Given the description of an element on the screen output the (x, y) to click on. 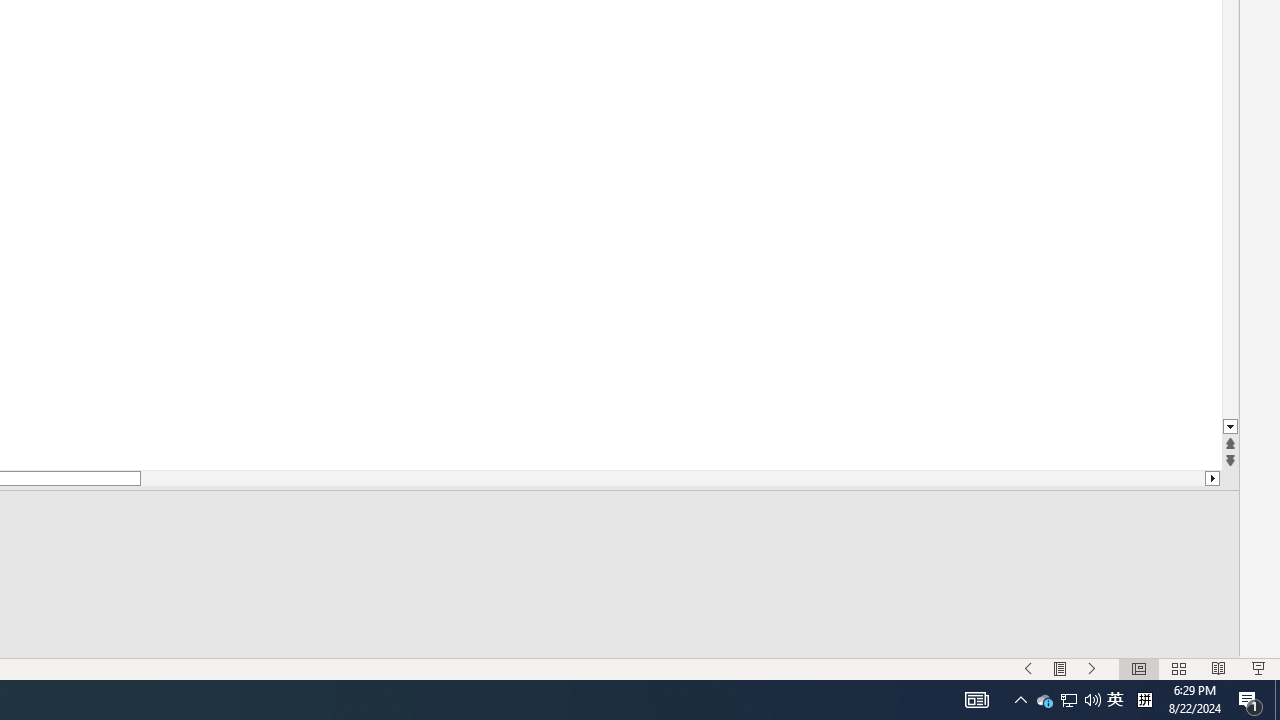
Slide Show Previous On (1028, 668)
Slide Show Next On (1092, 668)
Menu On (1060, 668)
